Given the description of an element on the screen output the (x, y) to click on. 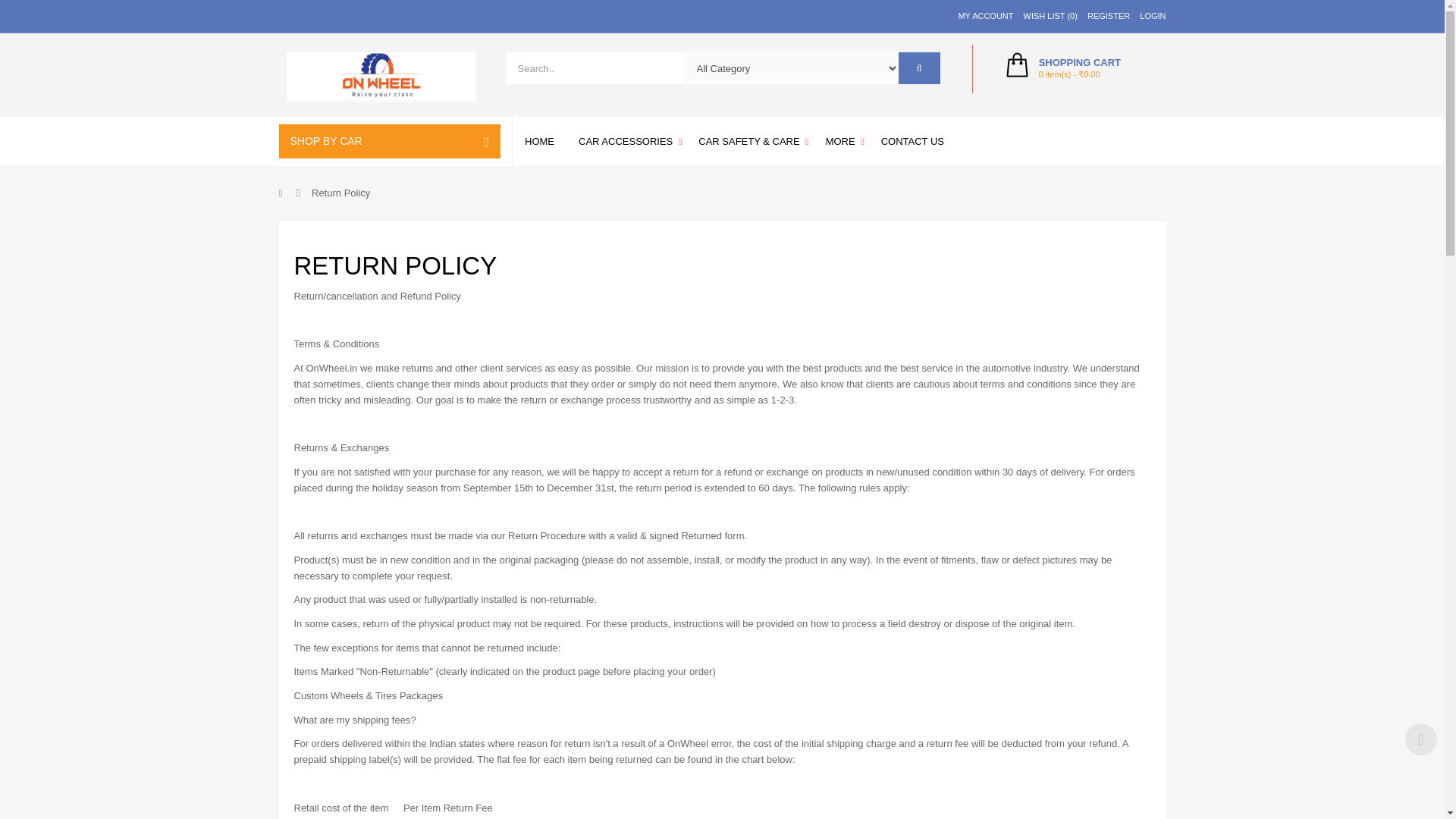
LOGIN (1149, 15)
OnWheel - Car Accessories (381, 76)
REGISTER (1104, 15)
MY ACCOUNT (981, 15)
